Given the description of an element on the screen output the (x, y) to click on. 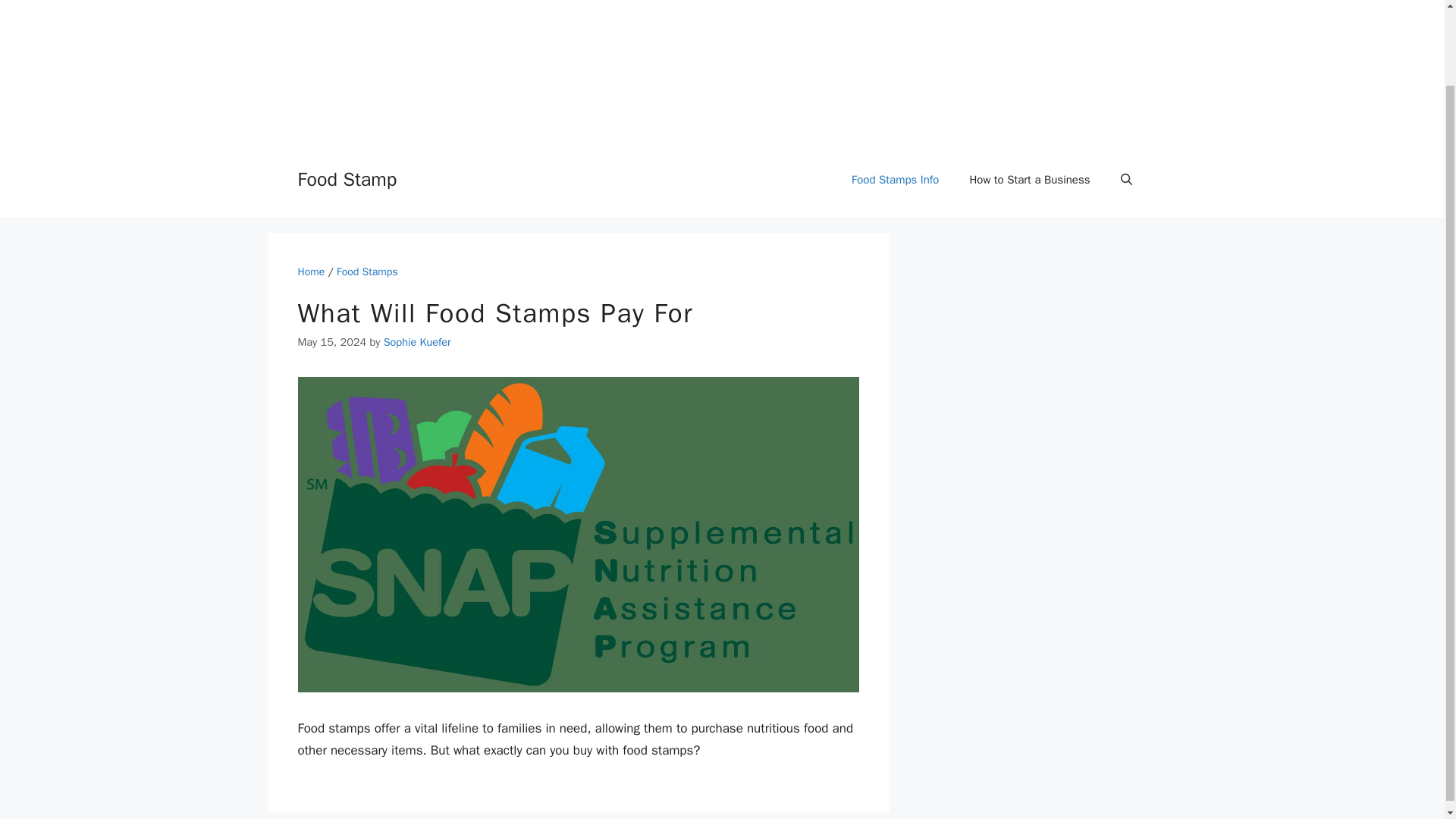
Sophie Kuefer (417, 341)
View all posts by Sophie Kuefer (417, 341)
How to Start a Business (1029, 179)
Food Stamps (366, 271)
Food Stamp (346, 178)
Food Stamps Info (894, 179)
Home (310, 271)
